Given the description of an element on the screen output the (x, y) to click on. 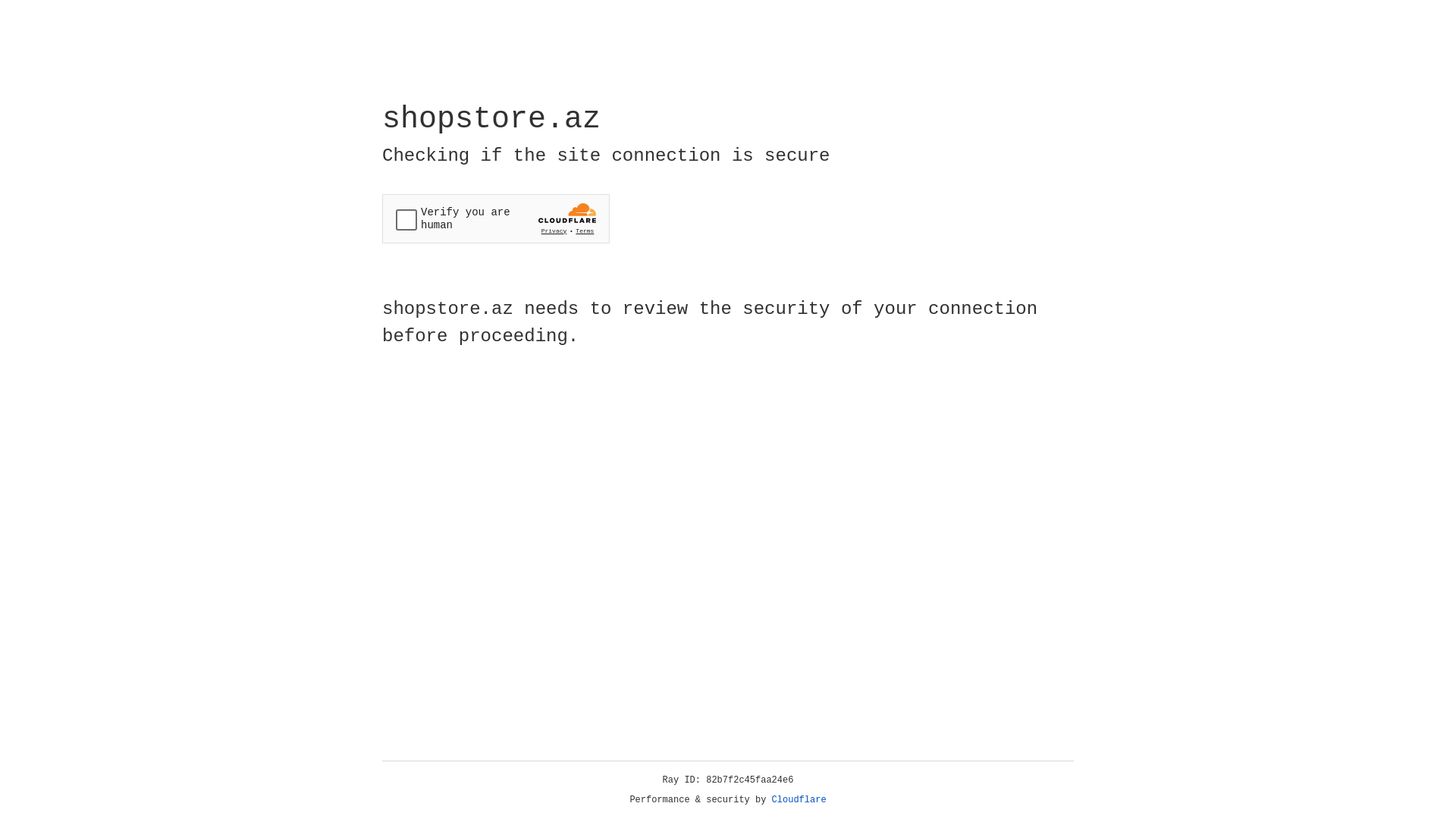
Widget containing a Cloudflare security challenge Element type: hover (495, 218)
Cloudflare Element type: text (798, 799)
